Given the description of an element on the screen output the (x, y) to click on. 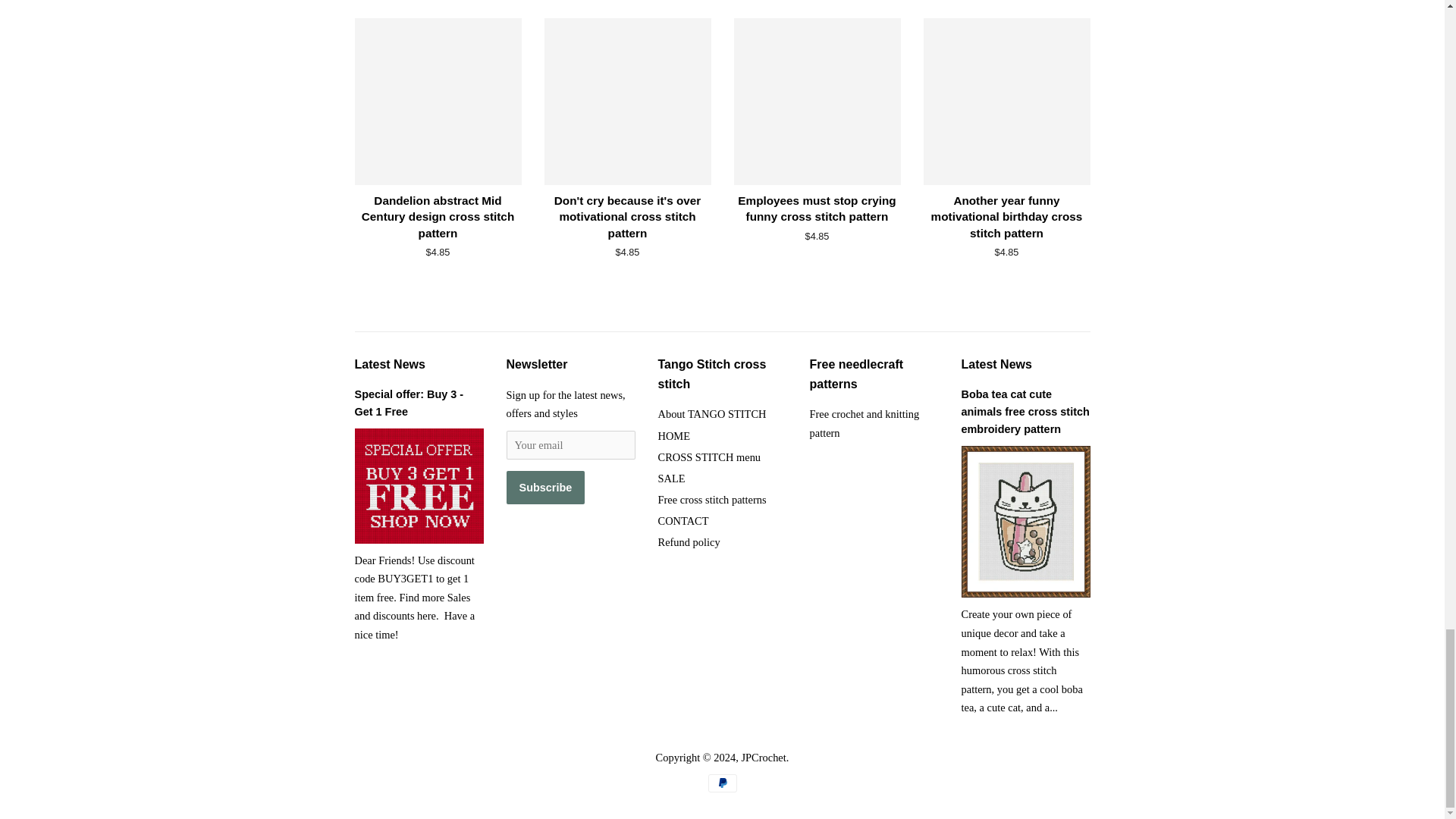
Subscribe (545, 487)
PayPal (721, 782)
